Given the description of an element on the screen output the (x, y) to click on. 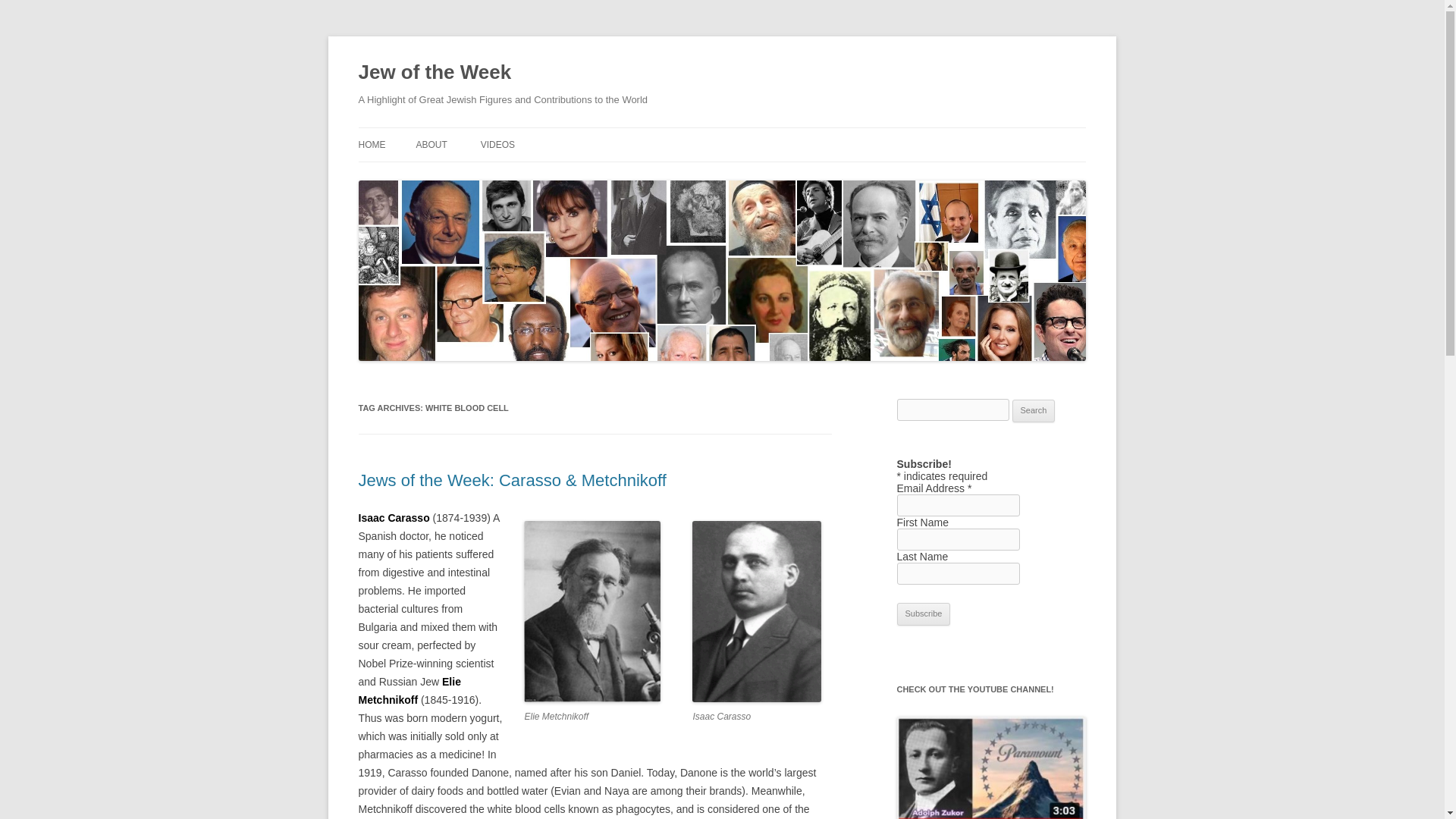
VIDEOS (497, 144)
ABOUT (430, 144)
Subscribe (923, 613)
Subscribe (923, 613)
Search (1033, 410)
Jew of the Week (434, 72)
Jew of the Week (434, 72)
Search (1033, 410)
